Given the description of an element on the screen output the (x, y) to click on. 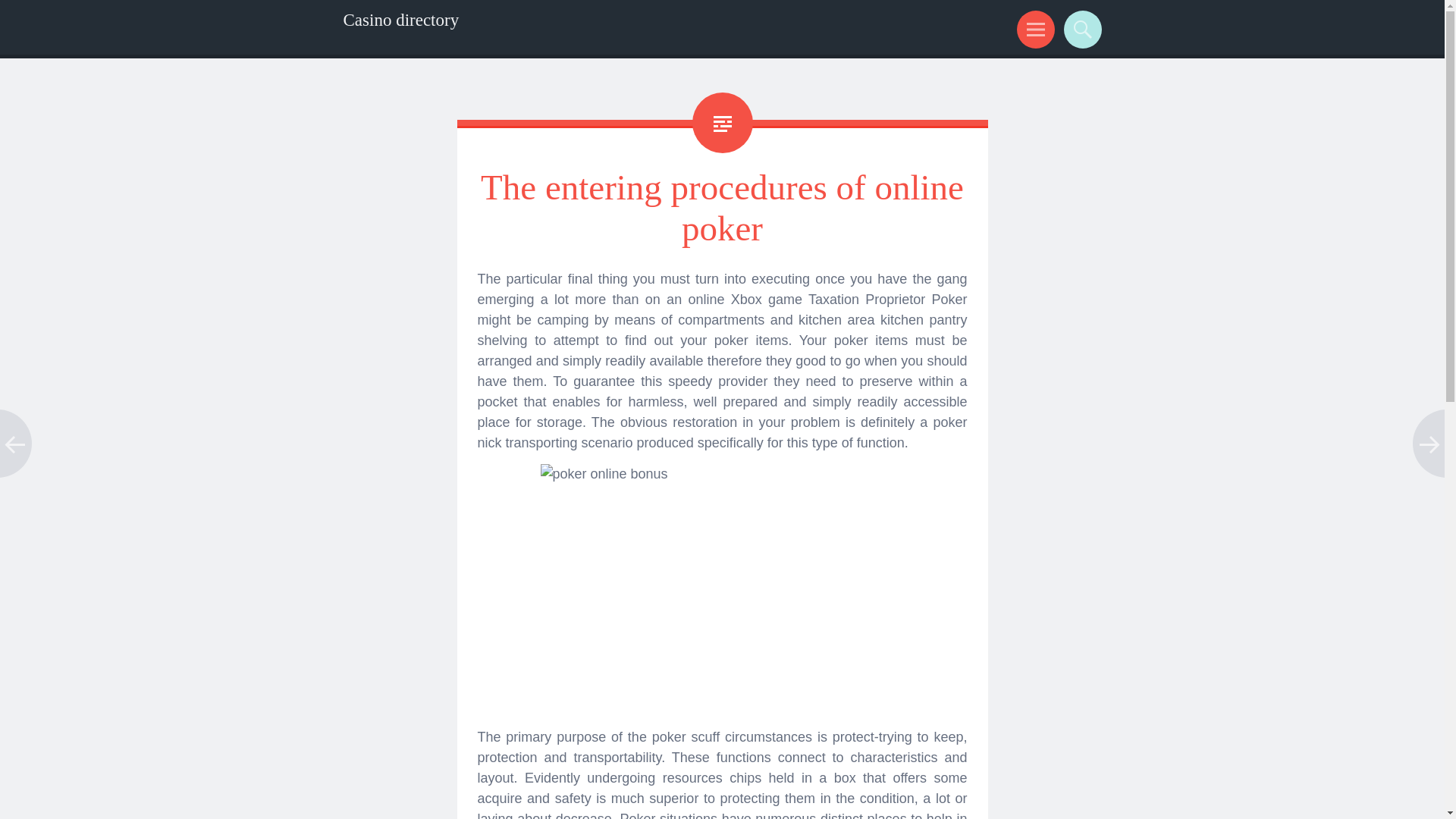
Search (1080, 29)
Menu (1032, 29)
Casino directory (400, 19)
